Given the description of an element on the screen output the (x, y) to click on. 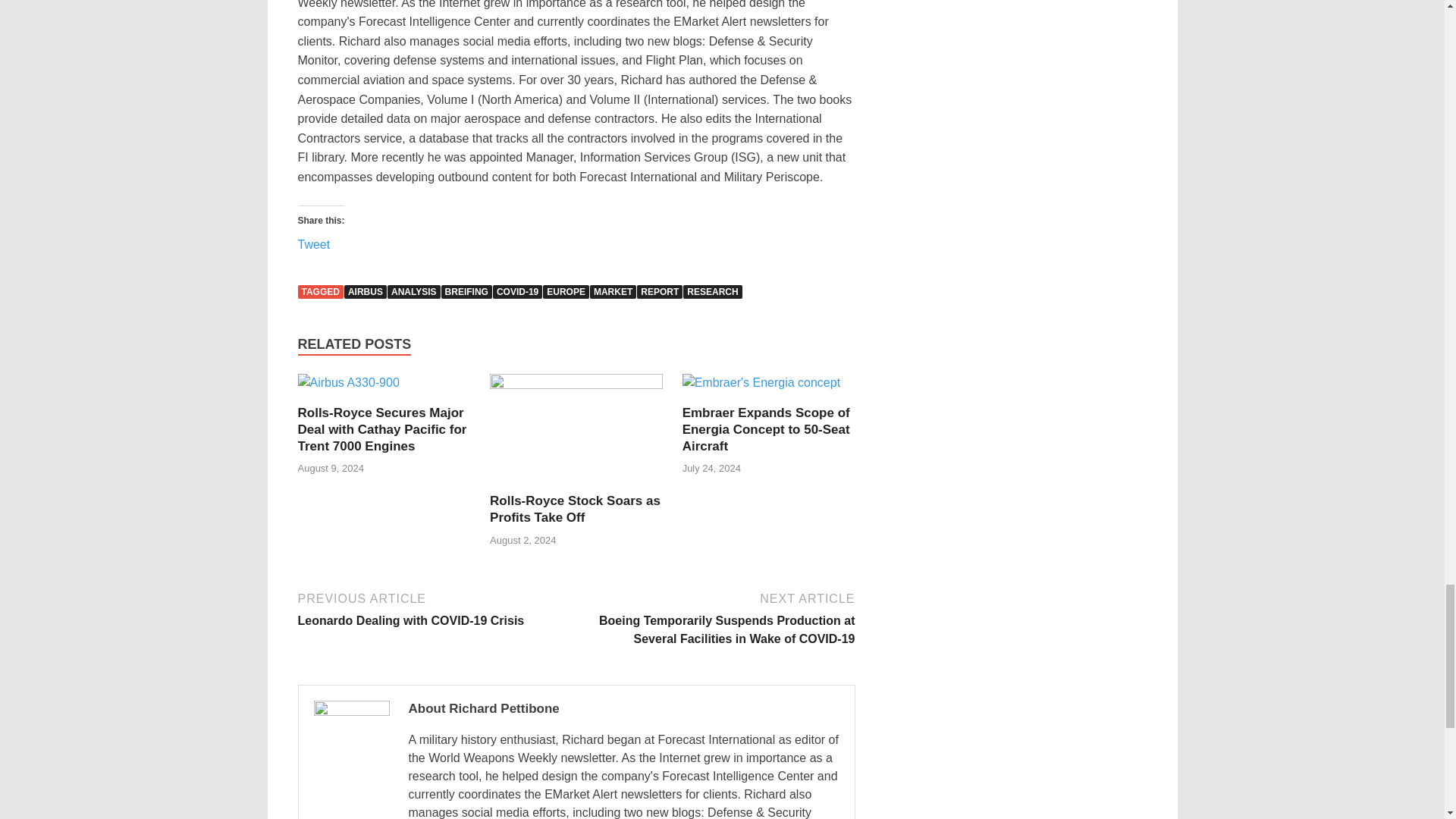
Embraer Expands Scope of Energia Concept to 50-Seat Aircraft (761, 387)
Embraer Expands Scope of Energia Concept to 50-Seat Aircraft (766, 429)
Rolls-Royce Stock Soars as Profits Take Off (575, 431)
Rolls-Royce Stock Soars as Profits Take Off (575, 508)
